Given the description of an element on the screen output the (x, y) to click on. 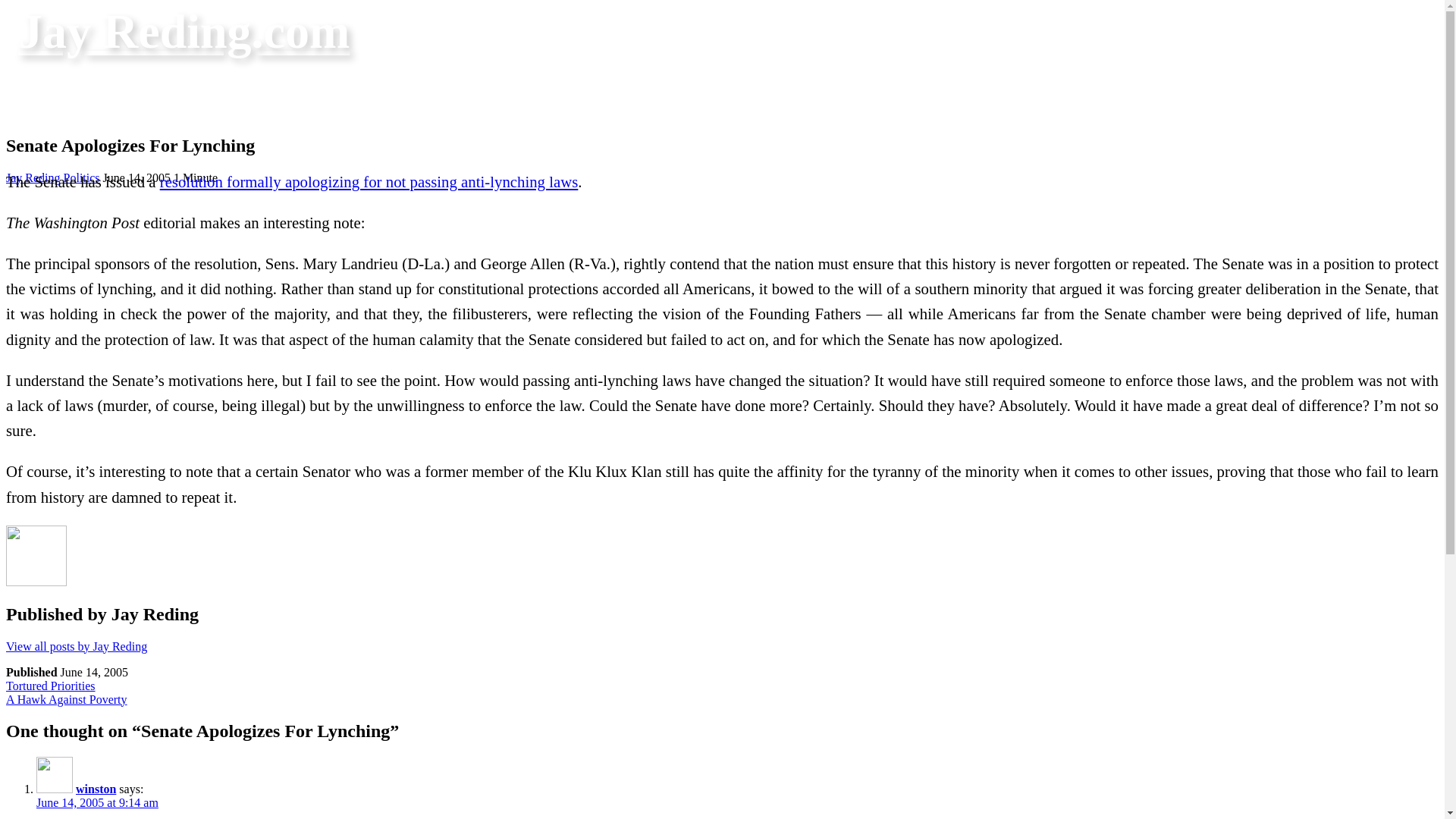
June 14, 2005 at 9:14 am (97, 802)
winston (95, 788)
Jay Reding (33, 177)
Jay Reding.com (183, 31)
Skip to content (66, 698)
Politics (33, 177)
View all posts by Jay Reding (50, 685)
